Given the description of an element on the screen output the (x, y) to click on. 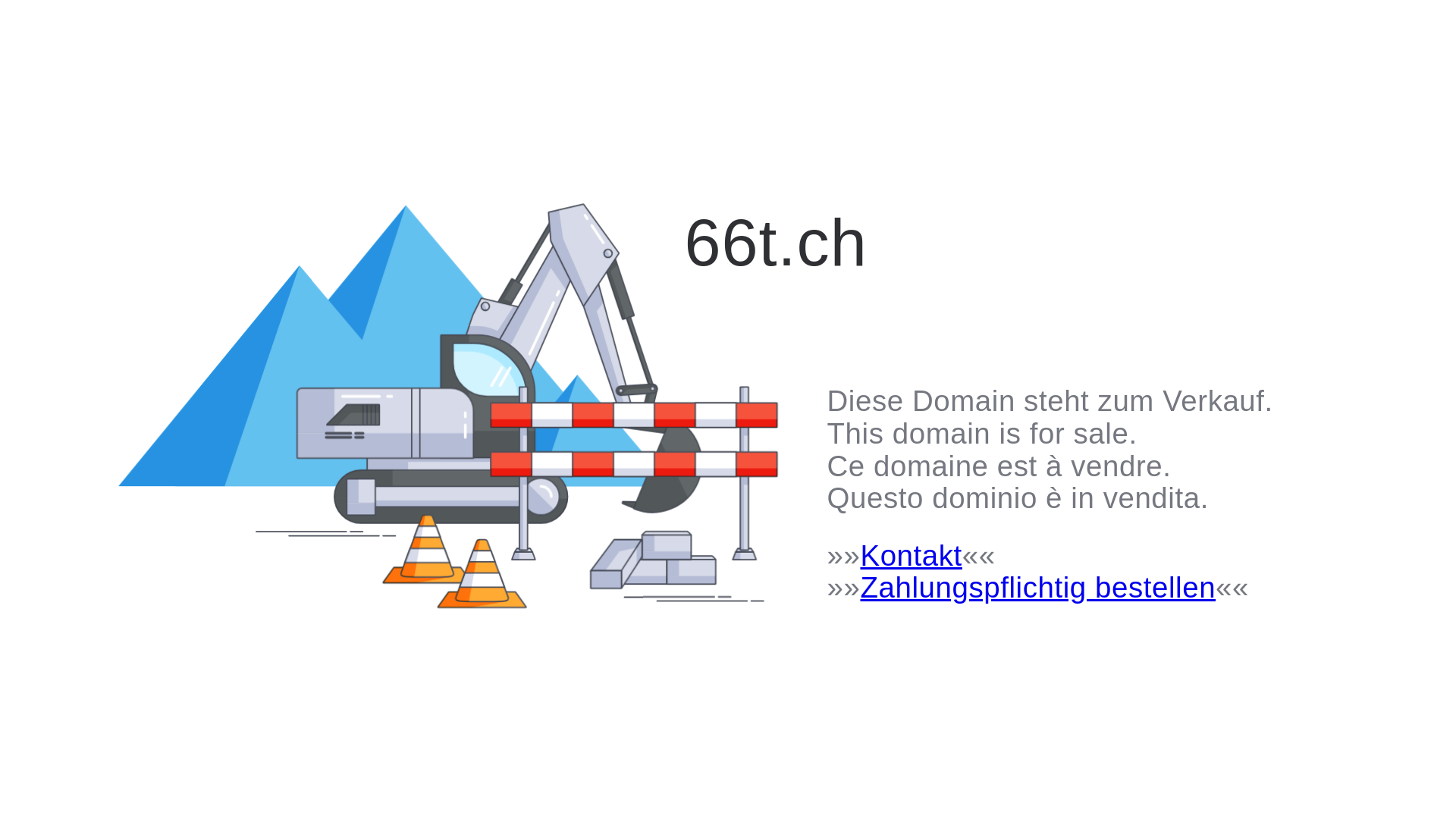
Zahlungspflichtig bestellen Element type: text (1037, 587)
Kontakt Element type: text (910, 554)
